Given the description of an element on the screen output the (x, y) to click on. 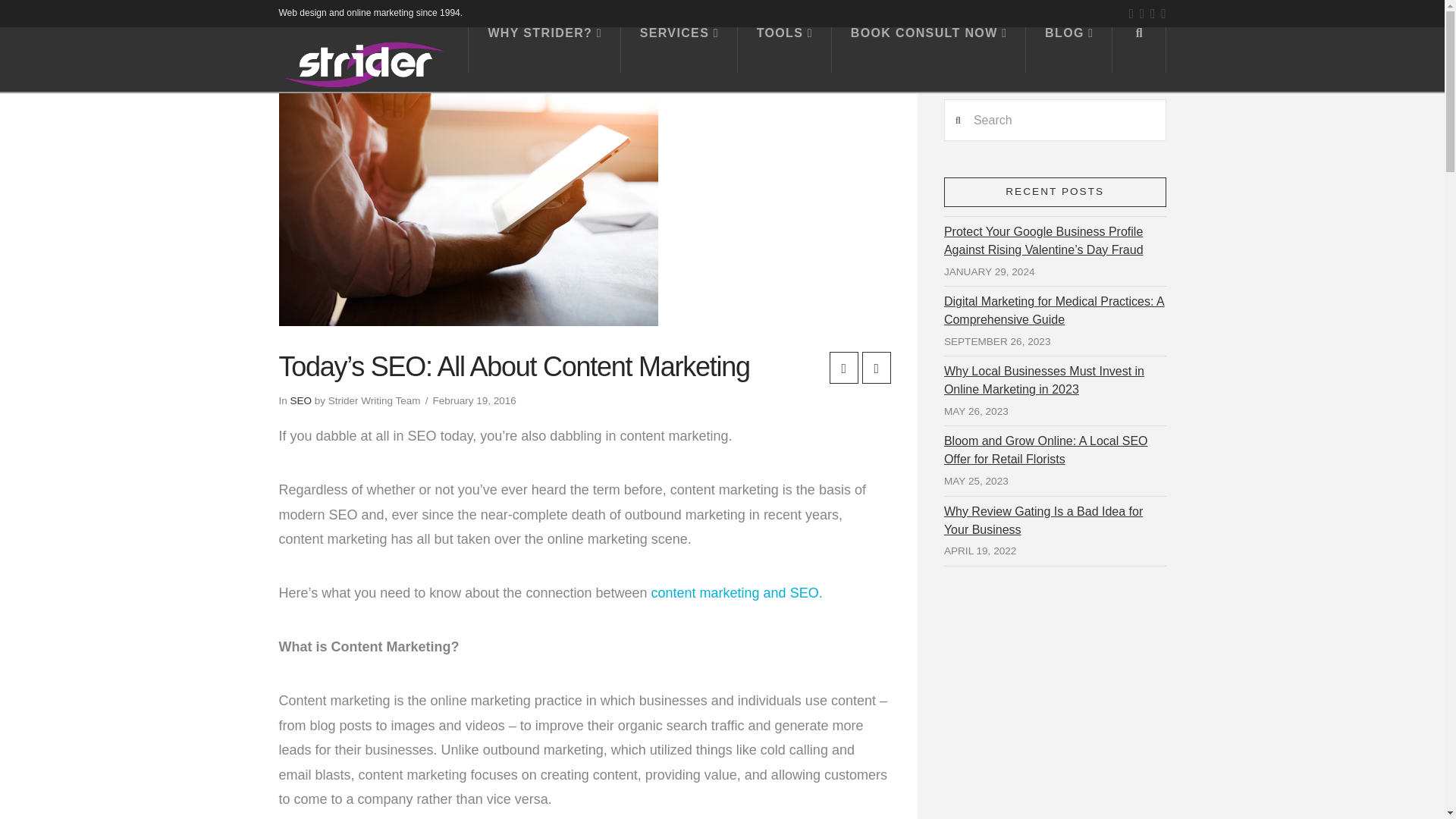
BLOG (1069, 49)
SERVICES (679, 49)
BOOK CONSULT NOW (928, 49)
TOOLS (784, 49)
WHY STRIDER? (543, 49)
